Given the description of an element on the screen output the (x, y) to click on. 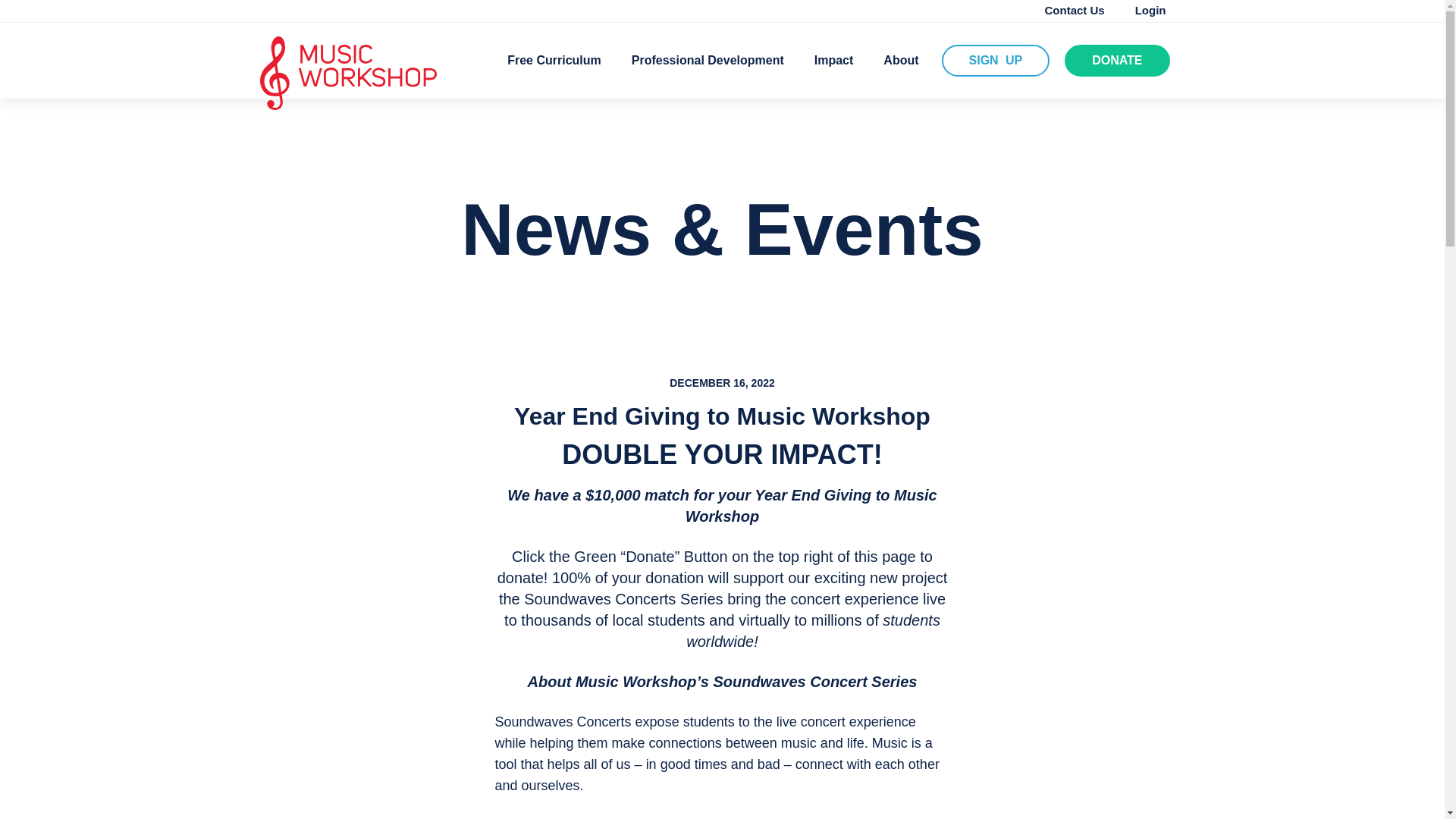
About (900, 60)
Link to Login page in new tab (1150, 10)
Link to Professional Development page (707, 60)
Link to Sign Up page in new tab (995, 60)
Contact Us (1073, 10)
Professional Development (707, 60)
Link to Donate page (1116, 60)
Link to Contact Us page (1073, 10)
Link to Home page (347, 72)
Link to Free Curriculum page (553, 60)
